Given the description of an element on the screen output the (x, y) to click on. 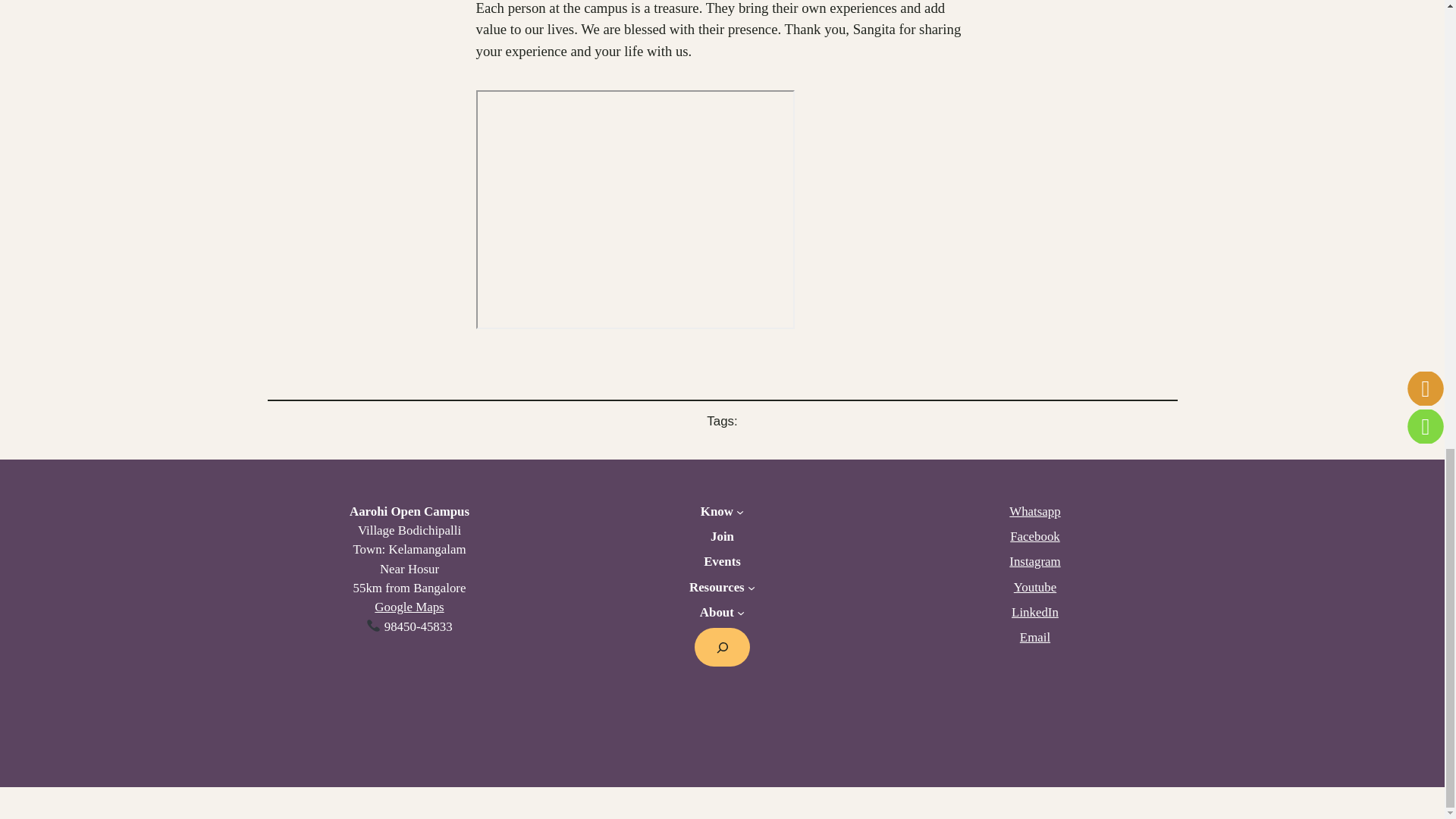
Resources (716, 587)
Google Maps (409, 606)
Join (721, 536)
Know (716, 511)
Events (722, 561)
